Given the description of an element on the screen output the (x, y) to click on. 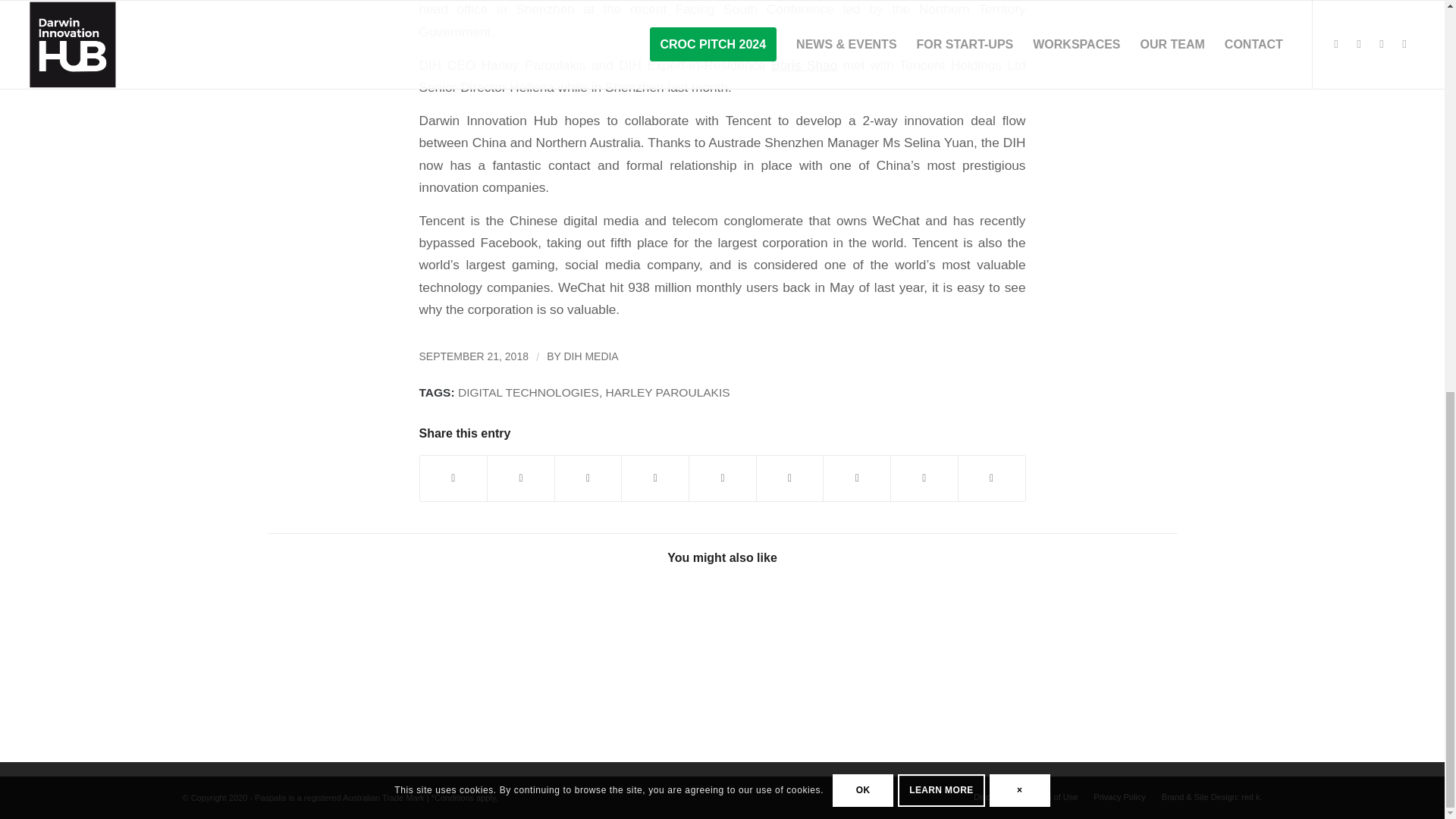
DIGITAL TECHNOLOGIES (528, 391)
HARLEY PAROULAKIS (667, 391)
Posts by DIH Media (591, 356)
DIH MEDIA (591, 356)
Boris Shao (804, 64)
